Given the description of an element on the screen output the (x, y) to click on. 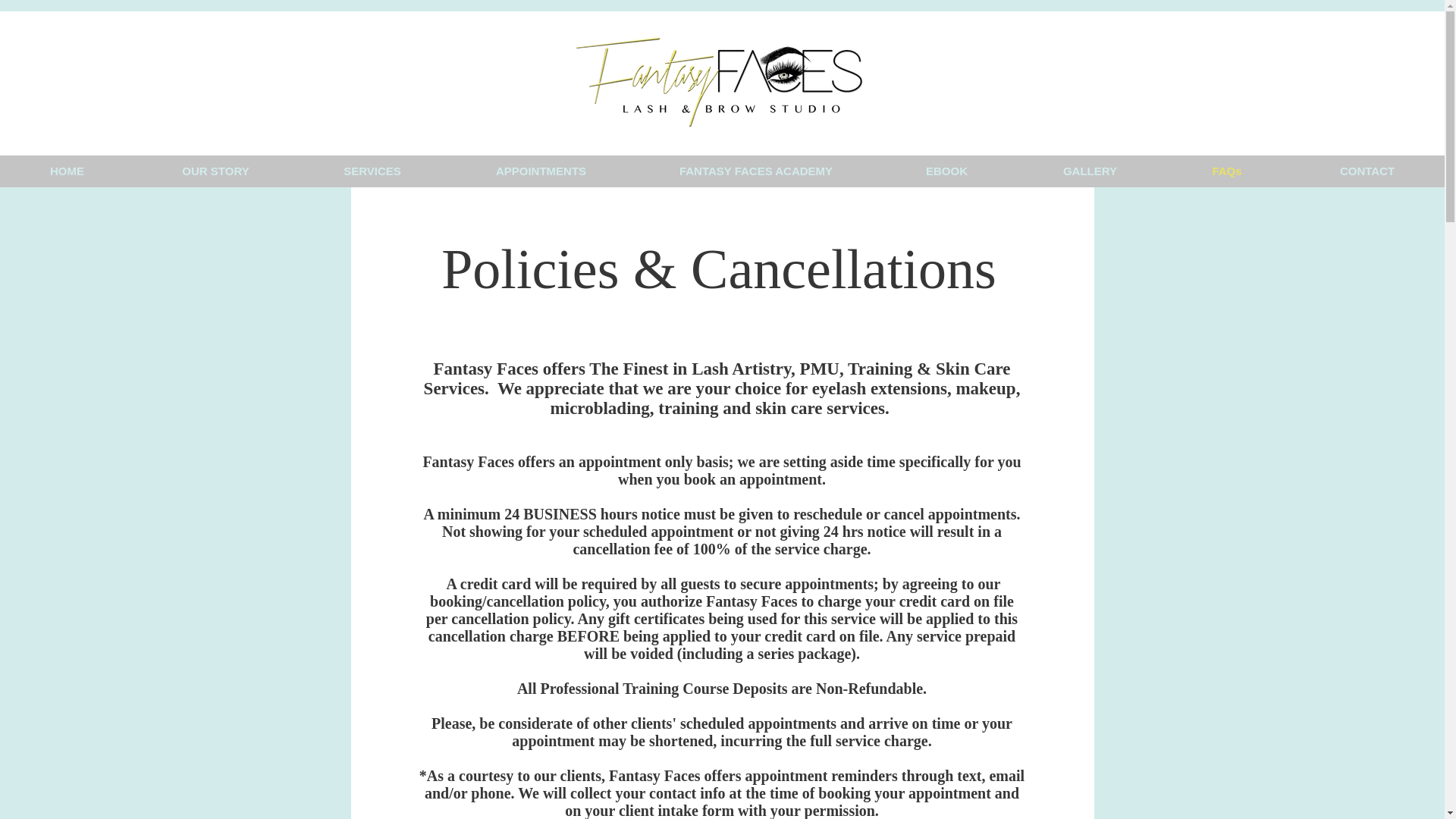
OUR STORY (215, 170)
FAQs (1226, 170)
HOME (66, 170)
GALLERY (1089, 170)
FANTASY FACES ACADEMY (755, 170)
APPOINTMENTS (540, 170)
EBOOK (946, 170)
